Given the description of an element on the screen output the (x, y) to click on. 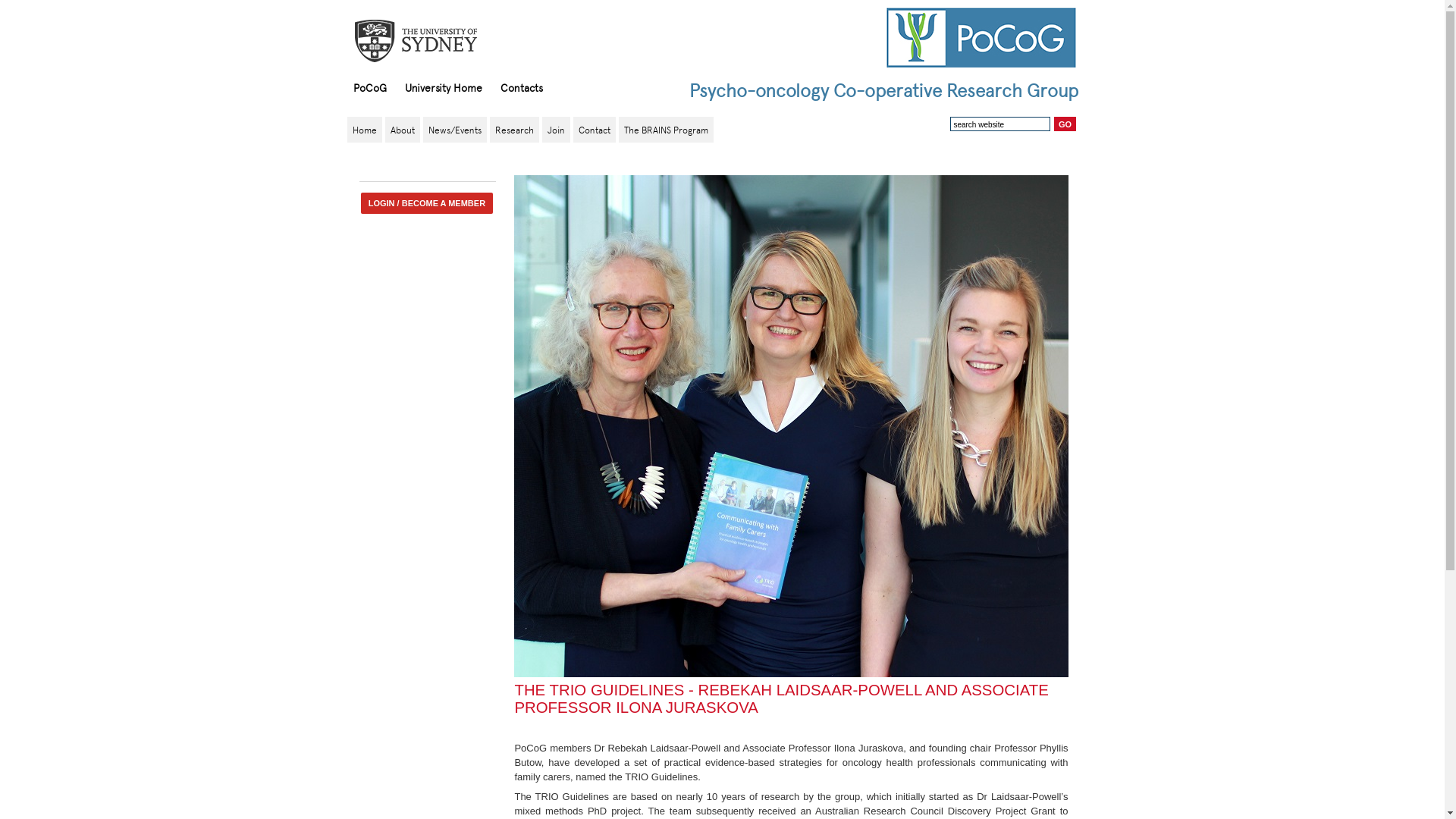
Login / Become a member Element type: text (426, 202)
PoCoG Element type: text (369, 87)
Enclose in quotes "" to search for exact match Element type: hover (1000, 123)
University Home Element type: text (443, 87)
Join Element type: text (555, 129)
About Element type: text (401, 129)
Home Element type: text (363, 129)
Contact Element type: text (593, 129)
Research Element type: text (513, 129)
Enclose in quotes "" to search for exact match Element type: hover (1012, 123)
The BRAINS Program Element type: text (665, 129)
The University of Sydney Element type: text (430, 40)
Contacts Element type: text (521, 87)
Go Element type: text (1064, 123)
News/Events Element type: text (453, 129)
